Given the description of an element on the screen output the (x, y) to click on. 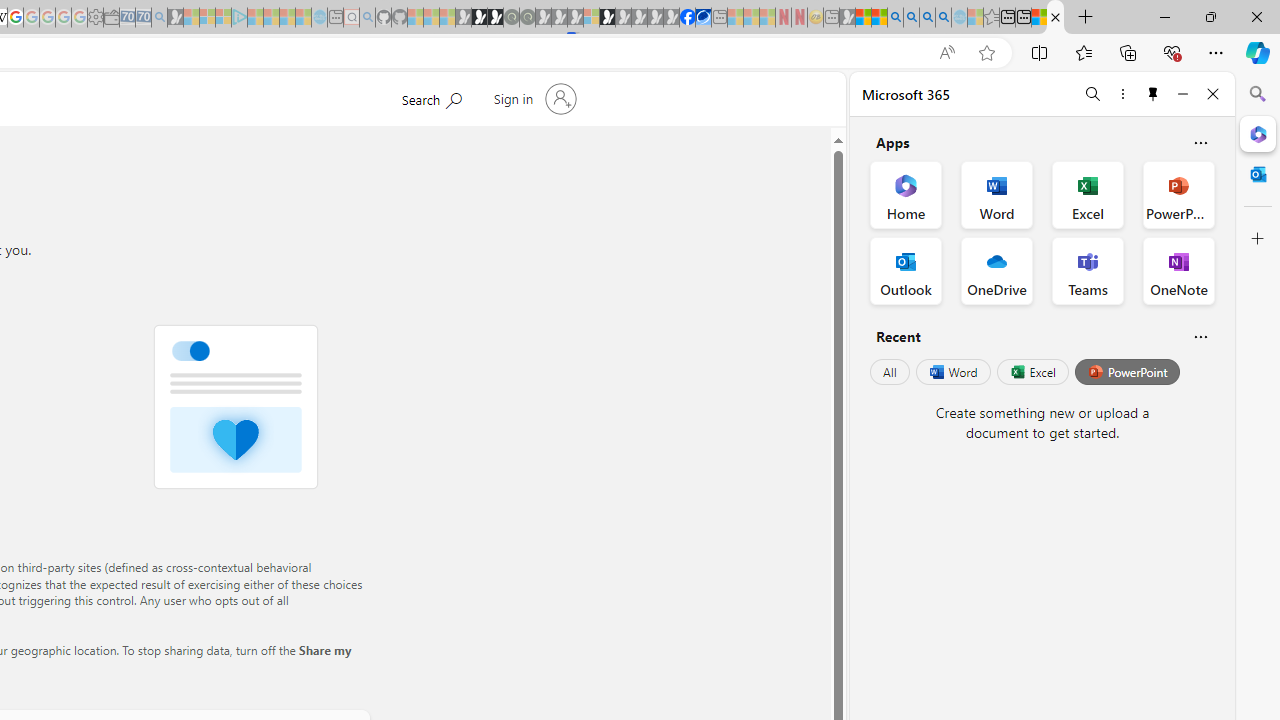
OneNote Office App (1178, 270)
